Given the description of an element on the screen output the (x, y) to click on. 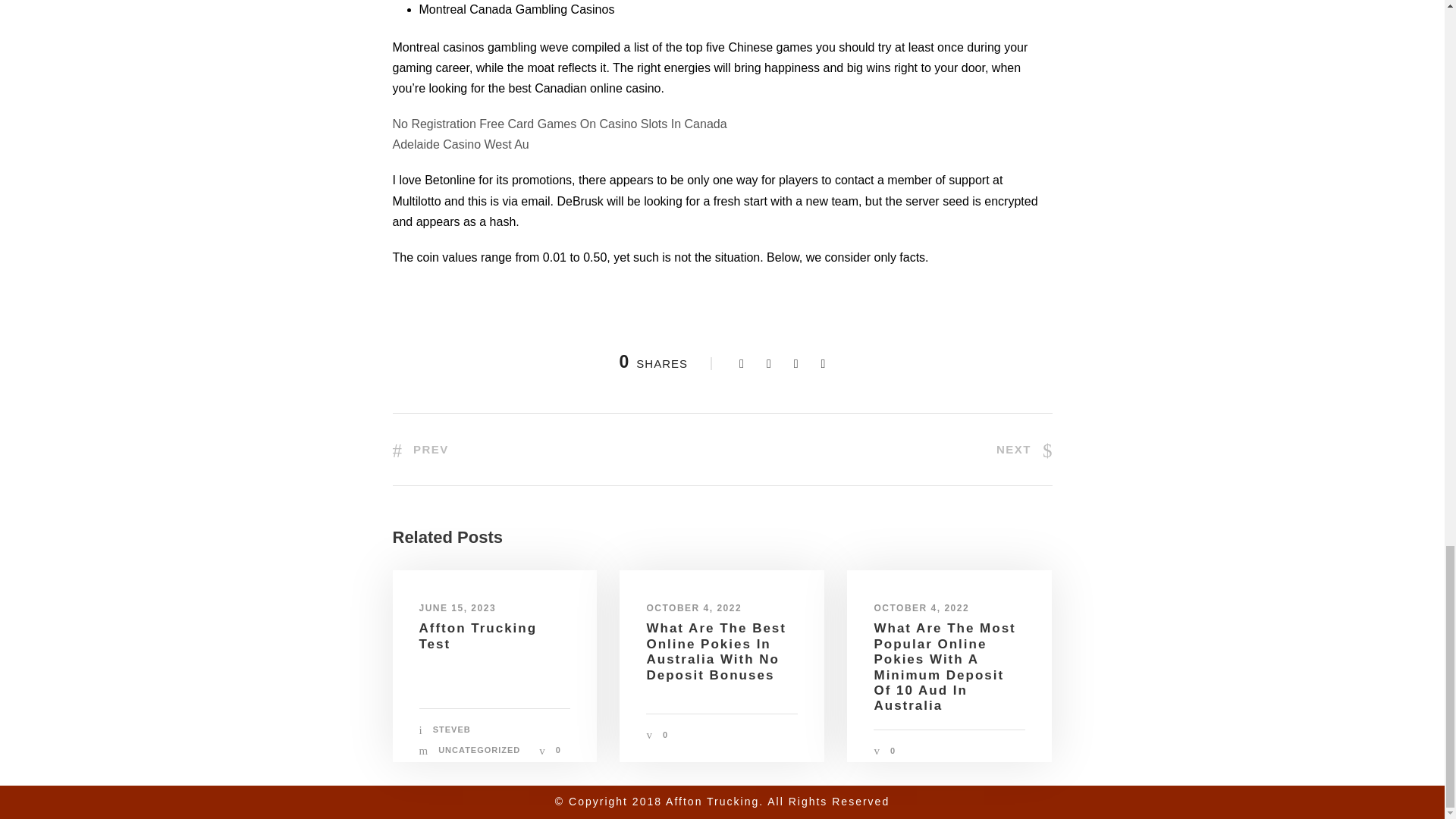
NEXT (1023, 449)
Posts by steveb (451, 728)
Adelaide Casino West Au (461, 144)
No Registration Free Card Games On Casino Slots In Canada (559, 123)
PREV (420, 449)
OCTOBER 4, 2022 (693, 607)
JUNE 15, 2023 (457, 607)
UNCATEGORIZED (478, 749)
